Given the description of an element on the screen output the (x, y) to click on. 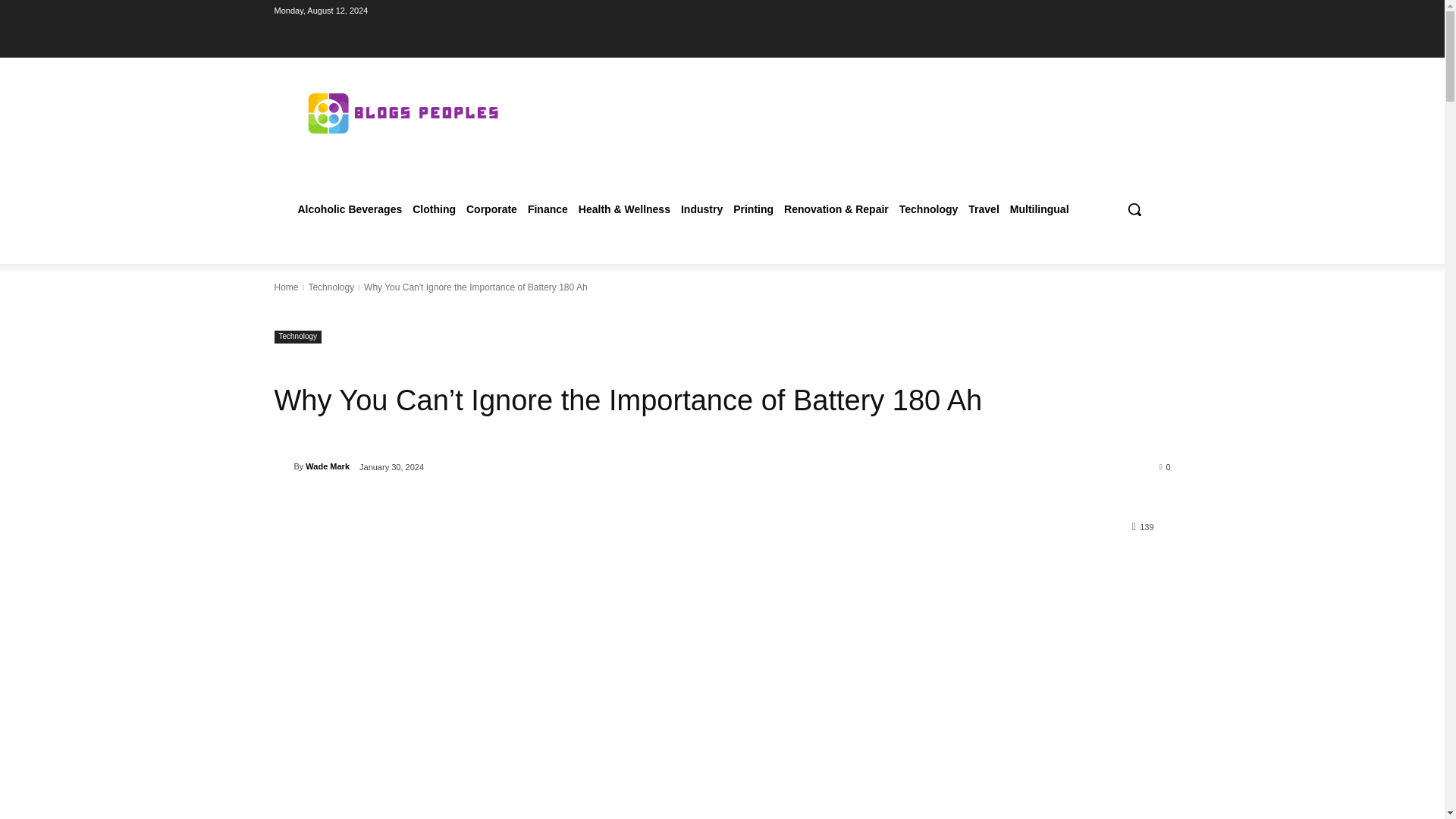
Technology (298, 336)
Finance (547, 208)
Wade Mark (284, 466)
Technology (330, 286)
Travel (983, 208)
View all posts in Technology (330, 286)
Corporate (491, 208)
Printing (753, 208)
Industry (701, 208)
Wade Mark (327, 466)
